Given the description of an element on the screen output the (x, y) to click on. 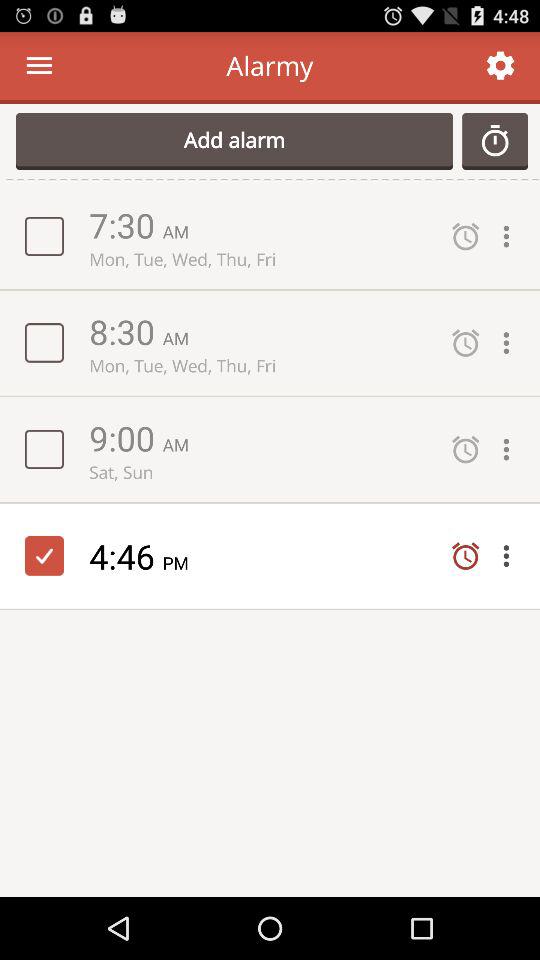
edit alarm details (511, 449)
